Given the description of an element on the screen output the (x, y) to click on. 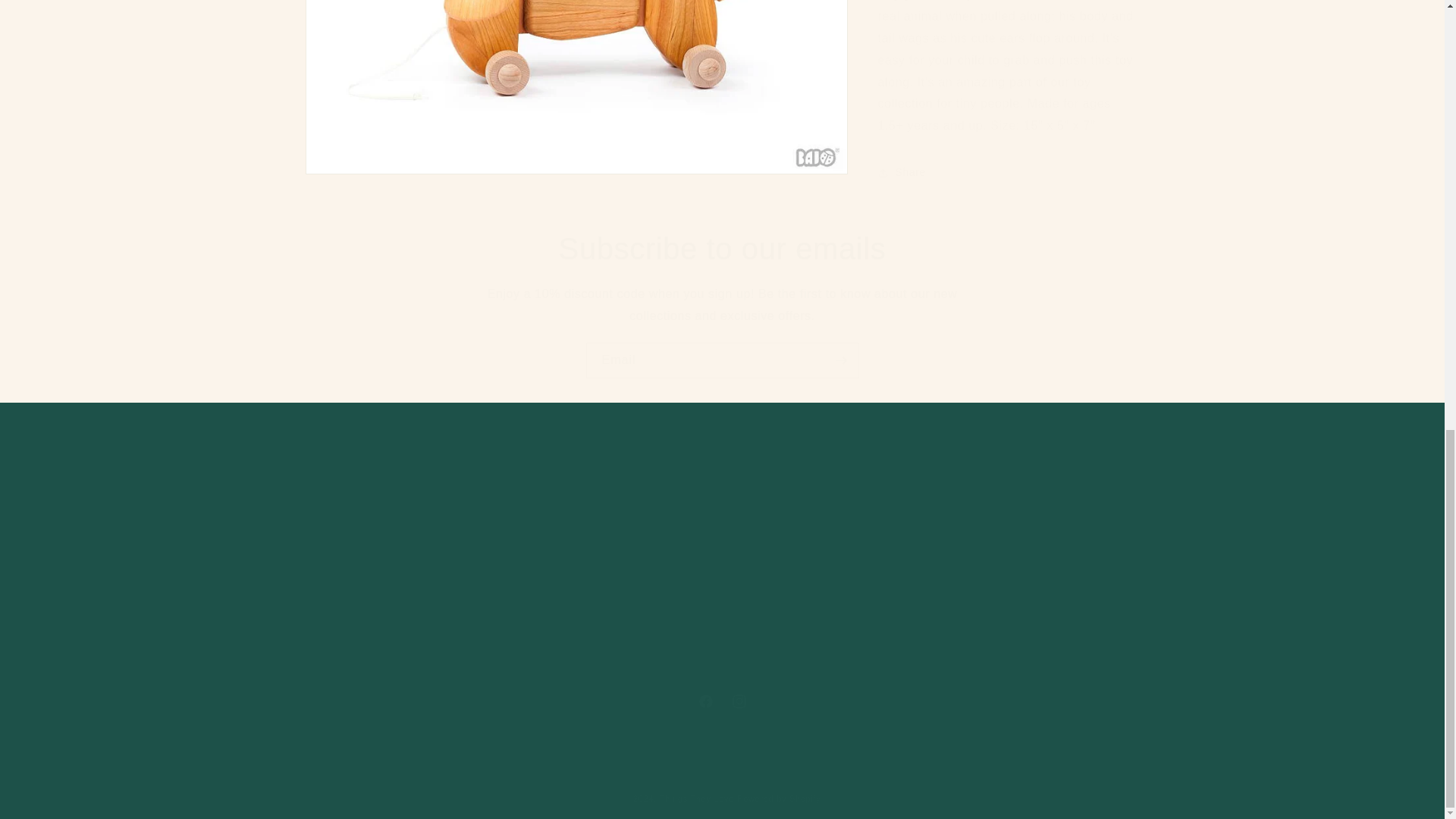
Email (721, 701)
Subscribe to our emails (722, 360)
